Given the description of an element on the screen output the (x, y) to click on. 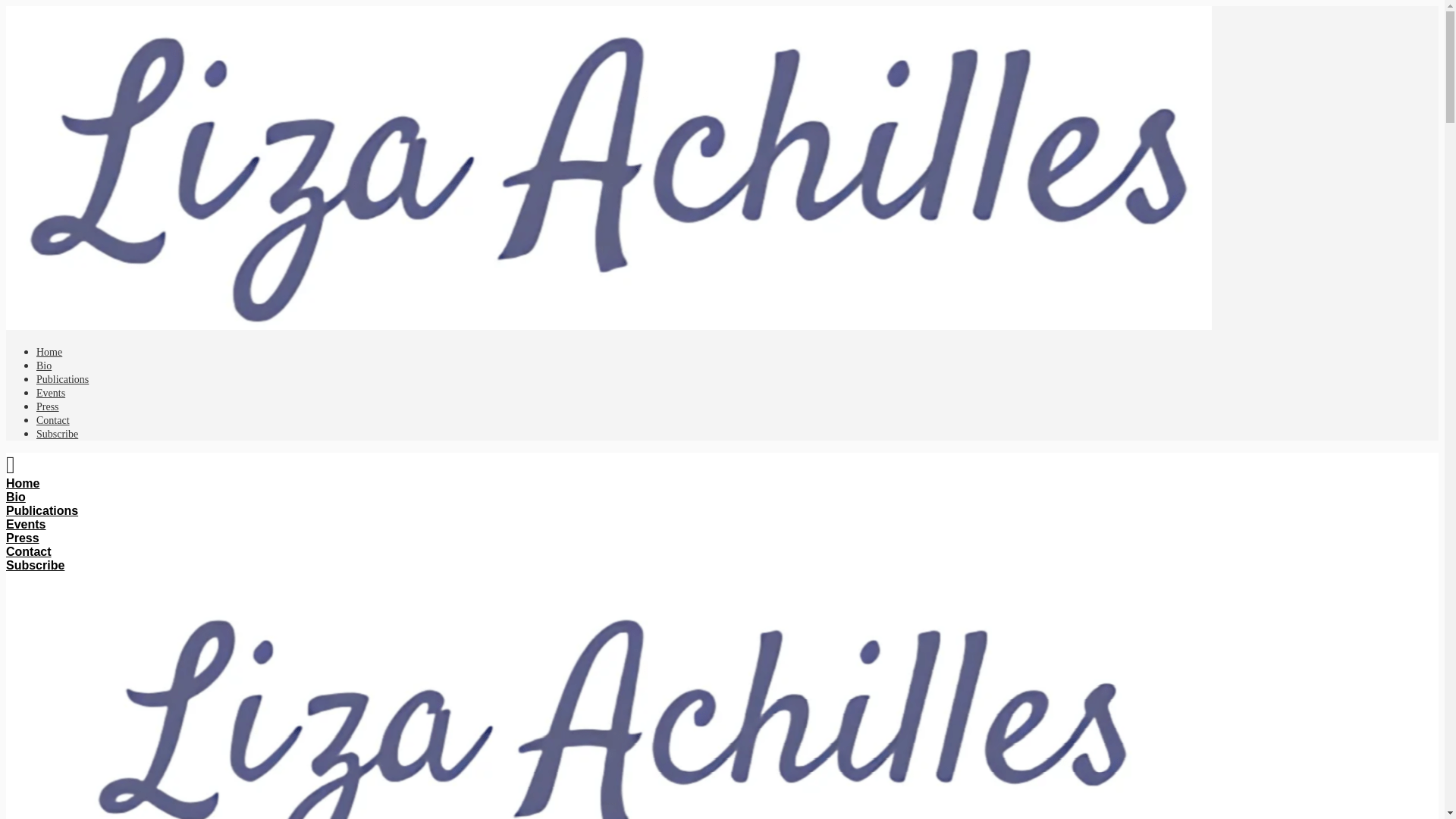
Bio (43, 365)
Subscribe (57, 433)
Subscribe (34, 564)
Press (47, 406)
Home (22, 482)
Press (22, 537)
Publications (62, 378)
Events (25, 523)
Home (49, 351)
Bio (15, 496)
Contact (52, 419)
Contact (27, 551)
Publications (41, 510)
Events (50, 392)
